Given the description of an element on the screen output the (x, y) to click on. 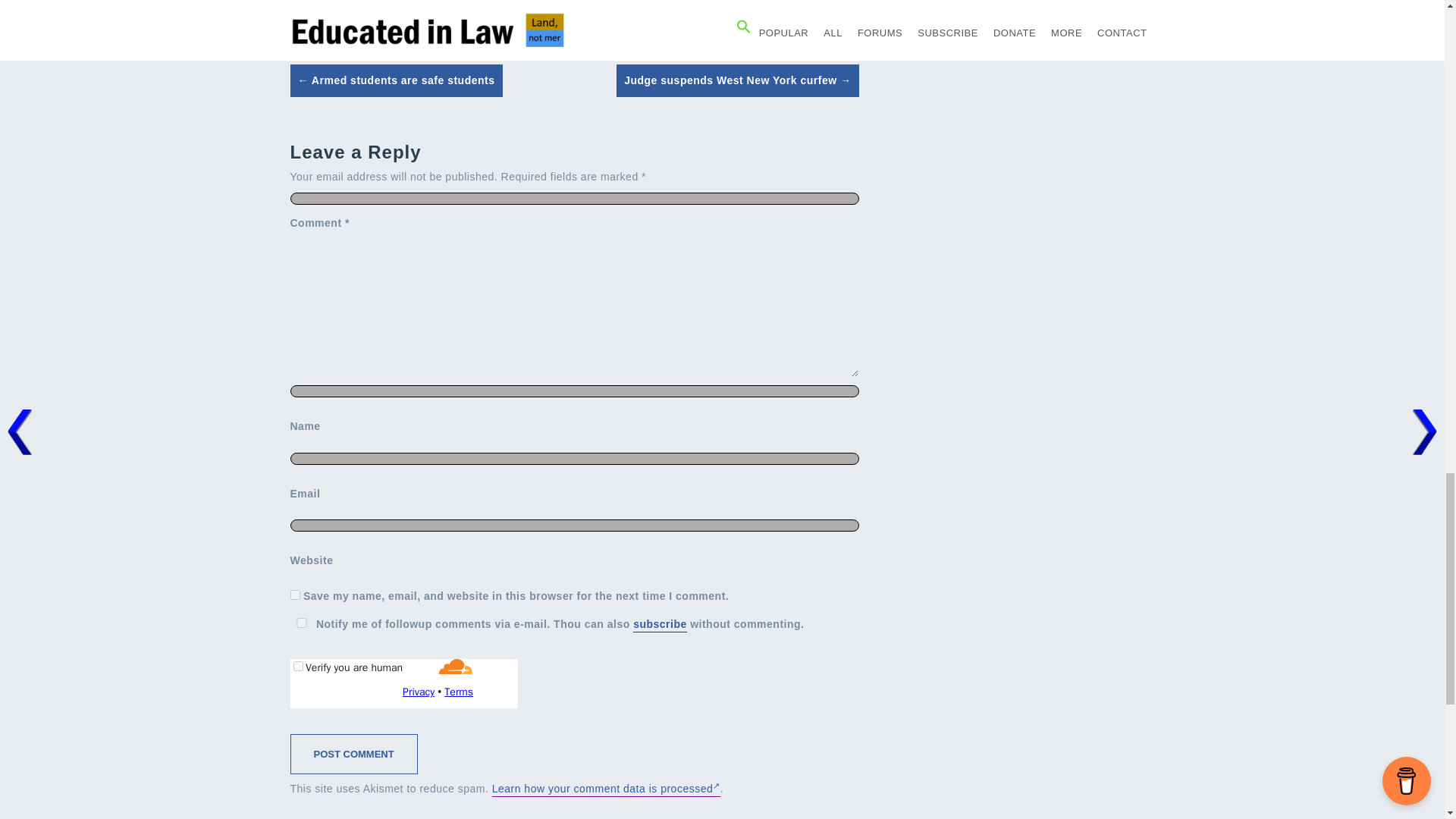
yes (294, 594)
yes (301, 623)
Post Comment (352, 753)
